Given the description of an element on the screen output the (x, y) to click on. 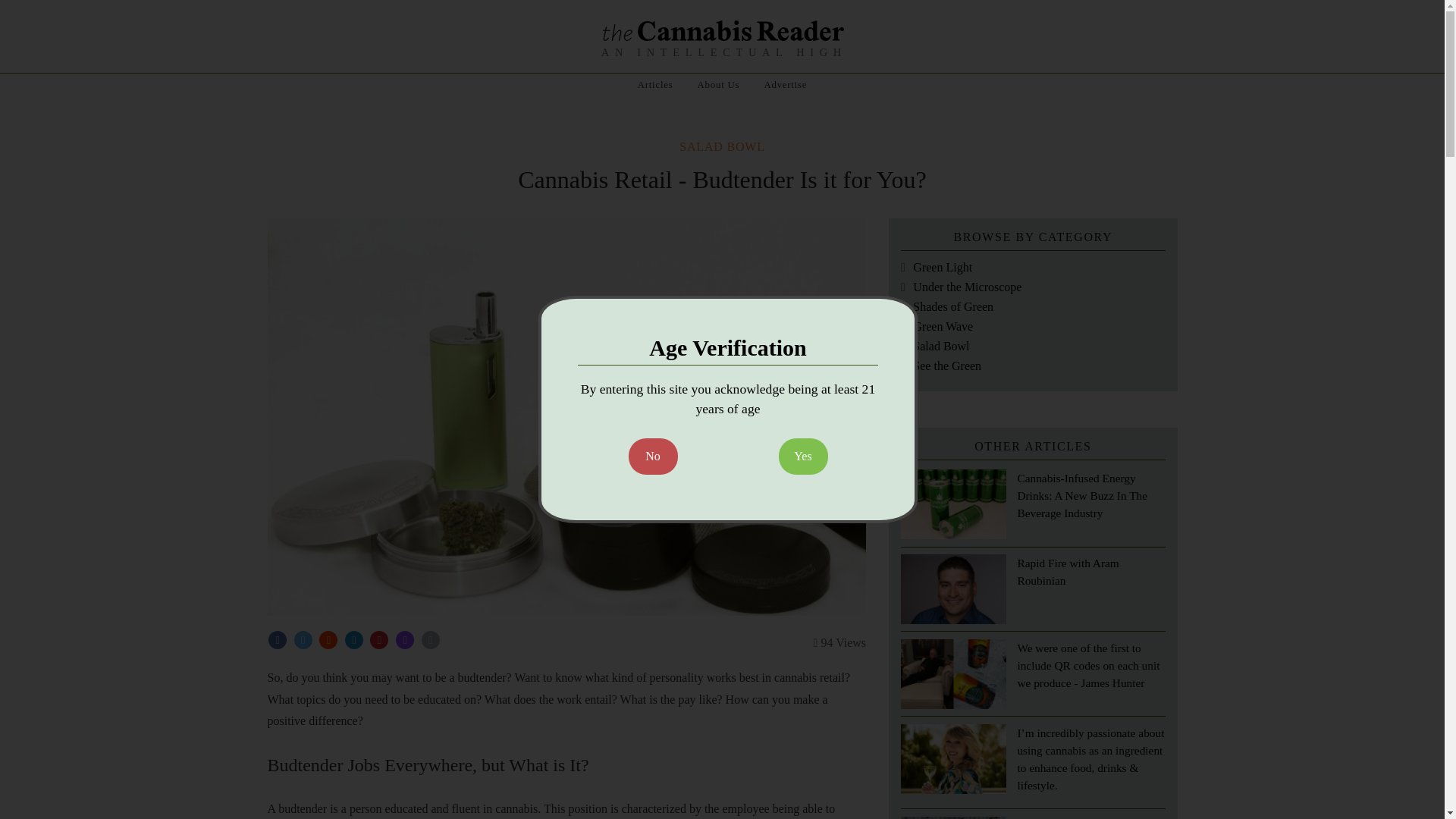
Advertise (784, 84)
Send by Email (404, 639)
Articles (655, 84)
See the Green (941, 365)
SALAD BOWL (721, 146)
Rapid Fire with Aram Roubinian (1067, 571)
Share on Twitter (303, 639)
Copy URL (430, 639)
Salad Bowl (935, 345)
Under the Microscope (961, 286)
About Us (718, 84)
Share on Facebook (276, 639)
Share on Pinterest (378, 639)
